Given the description of an element on the screen output the (x, y) to click on. 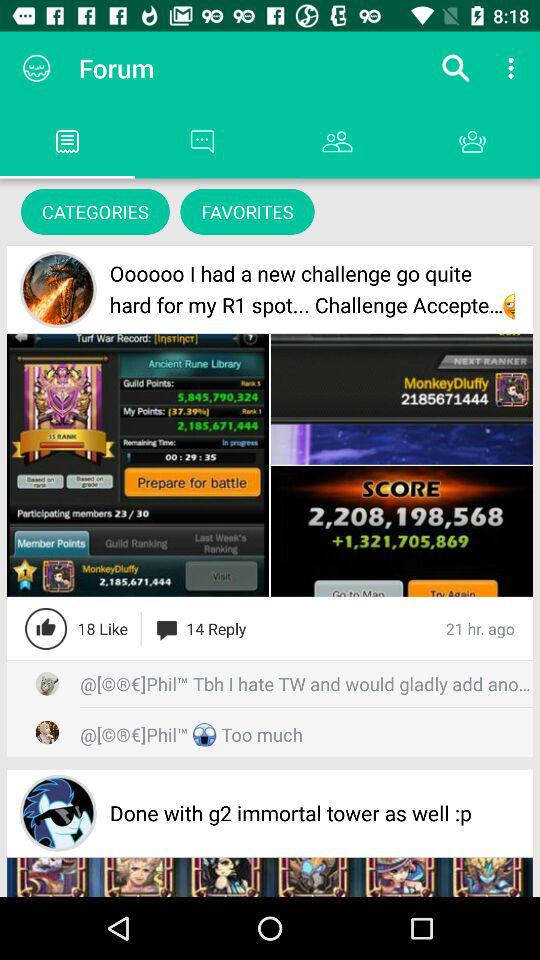
choose item next to favorites item (95, 211)
